Given the description of an element on the screen output the (x, y) to click on. 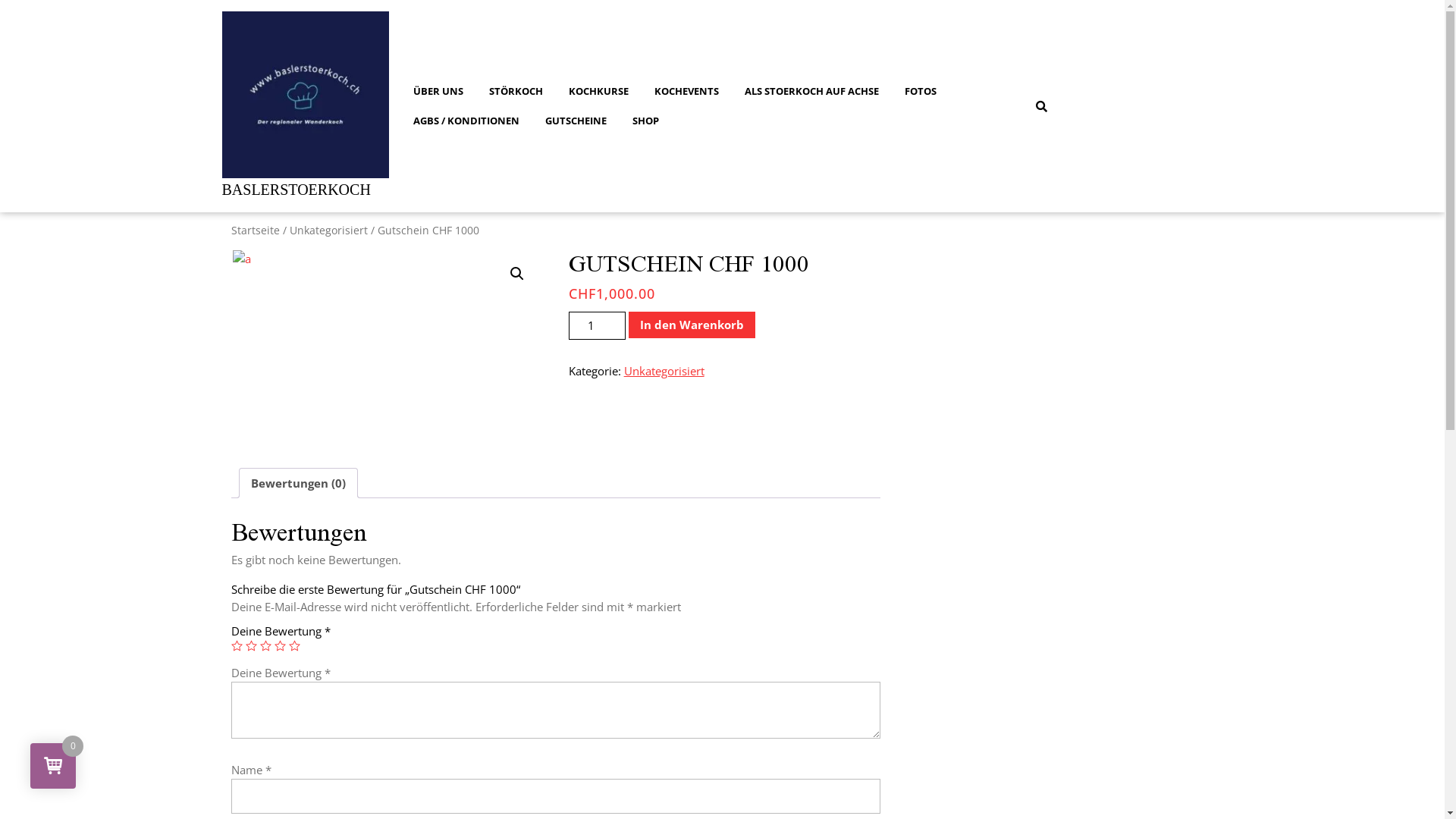
KOCHKURSE Element type: text (597, 90)
Unkategorisiert Element type: text (328, 229)
SHOP Element type: text (644, 121)
ALS STOERKOCH AUF ACHSE Element type: text (810, 90)
BASLERSTOERKOCH Element type: text (295, 189)
KOCHEVENTS Element type: text (686, 90)
FOTOS Element type: text (920, 90)
slide1 Element type: hover (386, 346)
3 Element type: text (264, 645)
2 Element type: text (251, 645)
Startseite Element type: text (254, 229)
4 Element type: text (279, 645)
GUTSCHEINE Element type: text (575, 121)
In den Warenkorb Element type: text (691, 324)
1 Element type: text (235, 645)
AGBS / KONDITIONEN Element type: text (465, 121)
5 Element type: text (293, 645)
Bewertungen (0) Element type: text (297, 482)
Unkategorisiert Element type: text (664, 370)
